Given the description of an element on the screen output the (x, y) to click on. 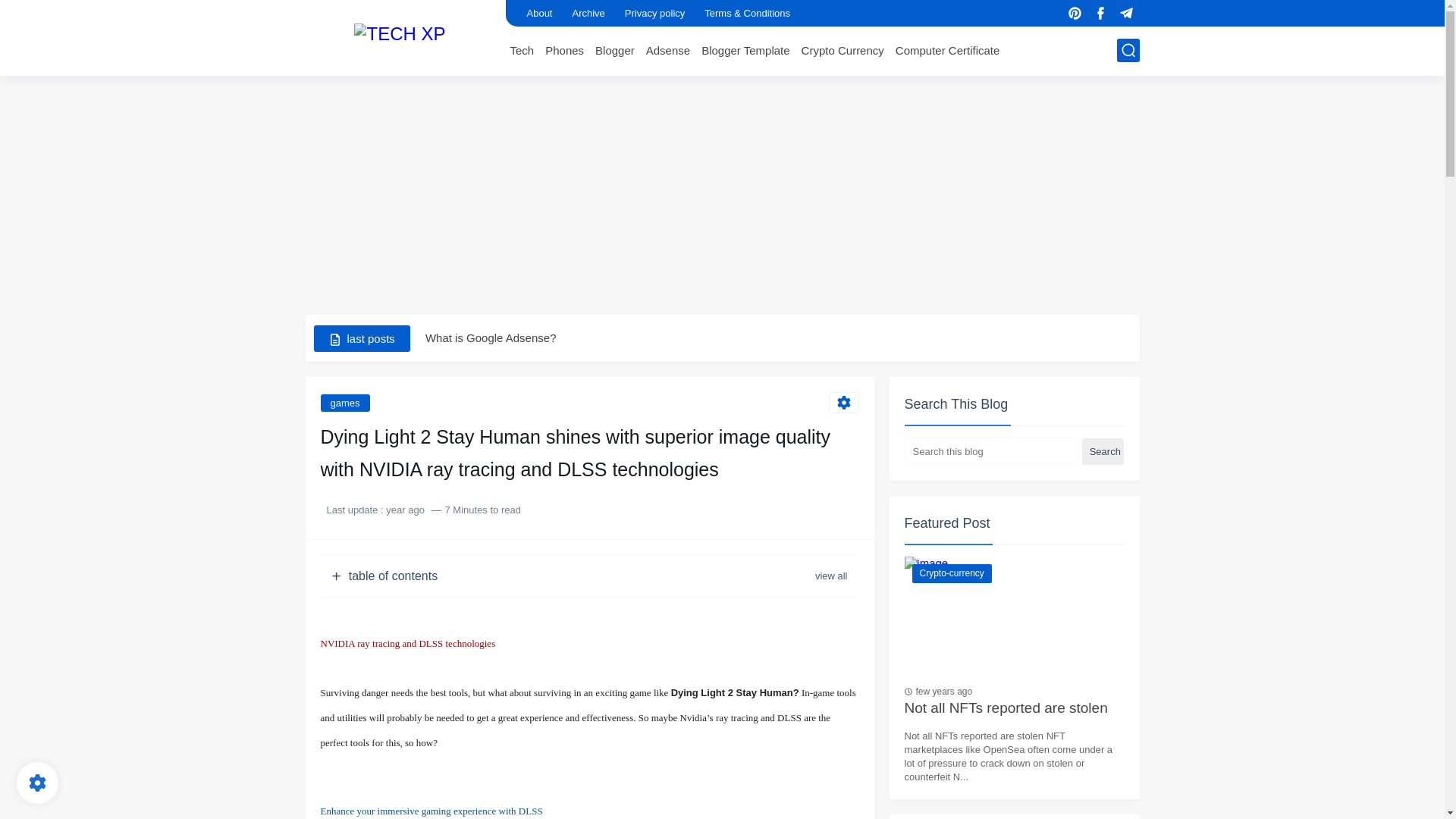
Tech (521, 50)
Crypto Currency (842, 50)
Privacy policy (654, 12)
Search (1102, 451)
Search (1102, 451)
Adsense (668, 50)
The 5 best phones in 2022 in the middle category (550, 307)
Phones (563, 50)
Computer Certificate (947, 50)
Computer Certificate (947, 50)
